Given the description of an element on the screen output the (x, y) to click on. 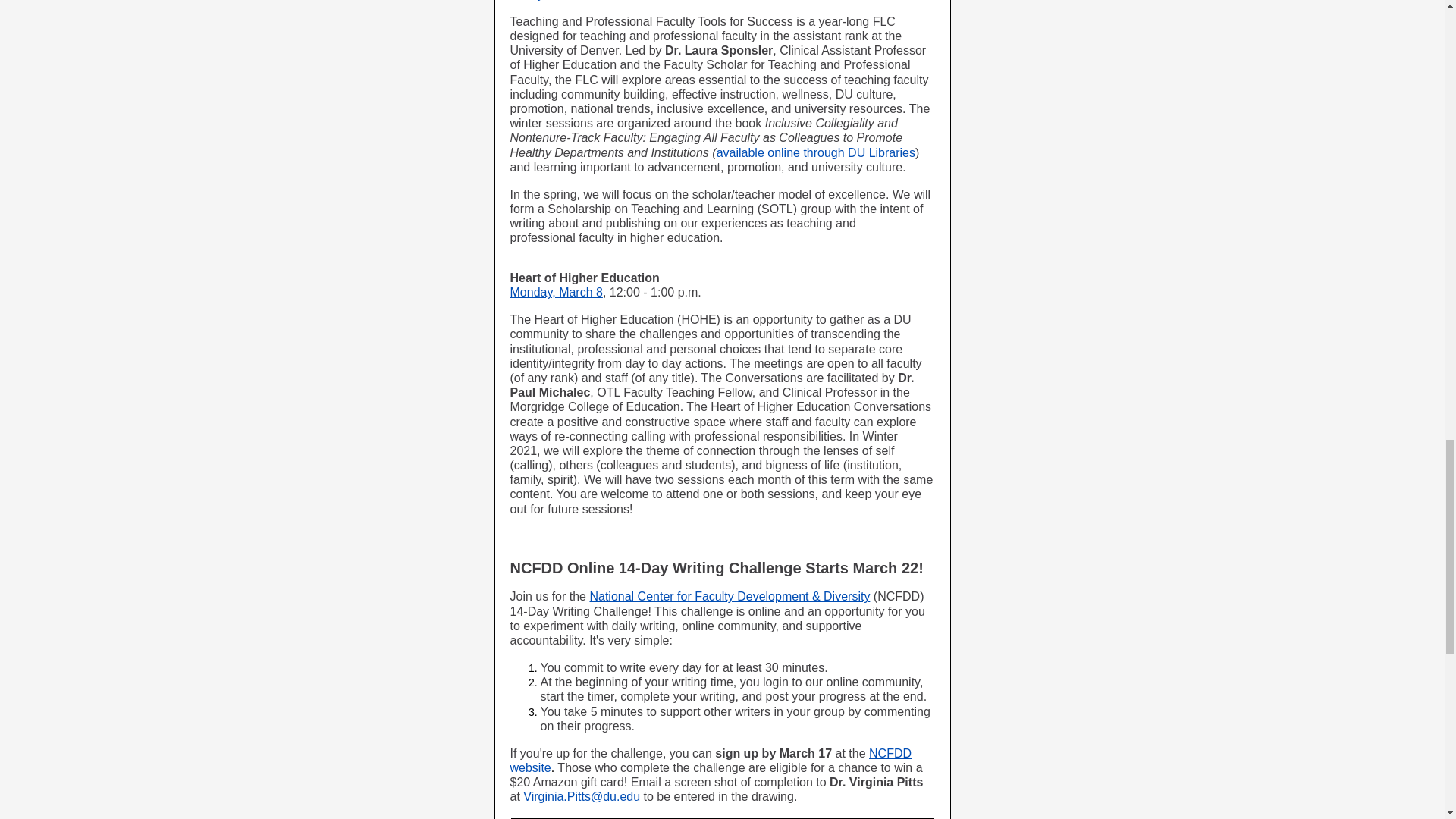
Monday, March 8 (555, 291)
NCFDD website (710, 759)
available online through DU Libraries (815, 152)
